Given the description of an element on the screen output the (x, y) to click on. 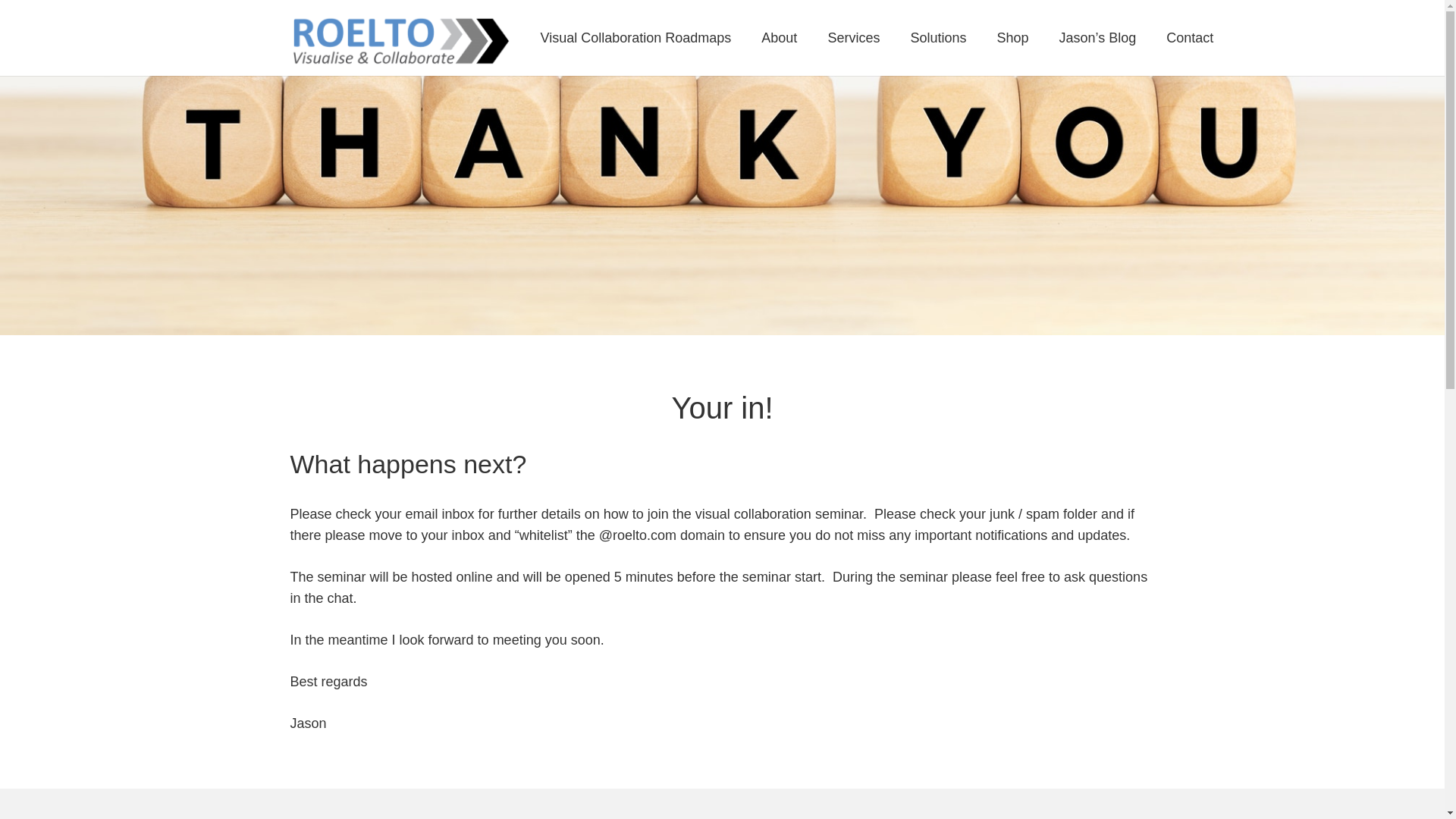
Services (853, 38)
Contact (1189, 38)
Solutions (938, 38)
Visual Collaboration Roadmaps (634, 38)
